Given the description of an element on the screen output the (x, y) to click on. 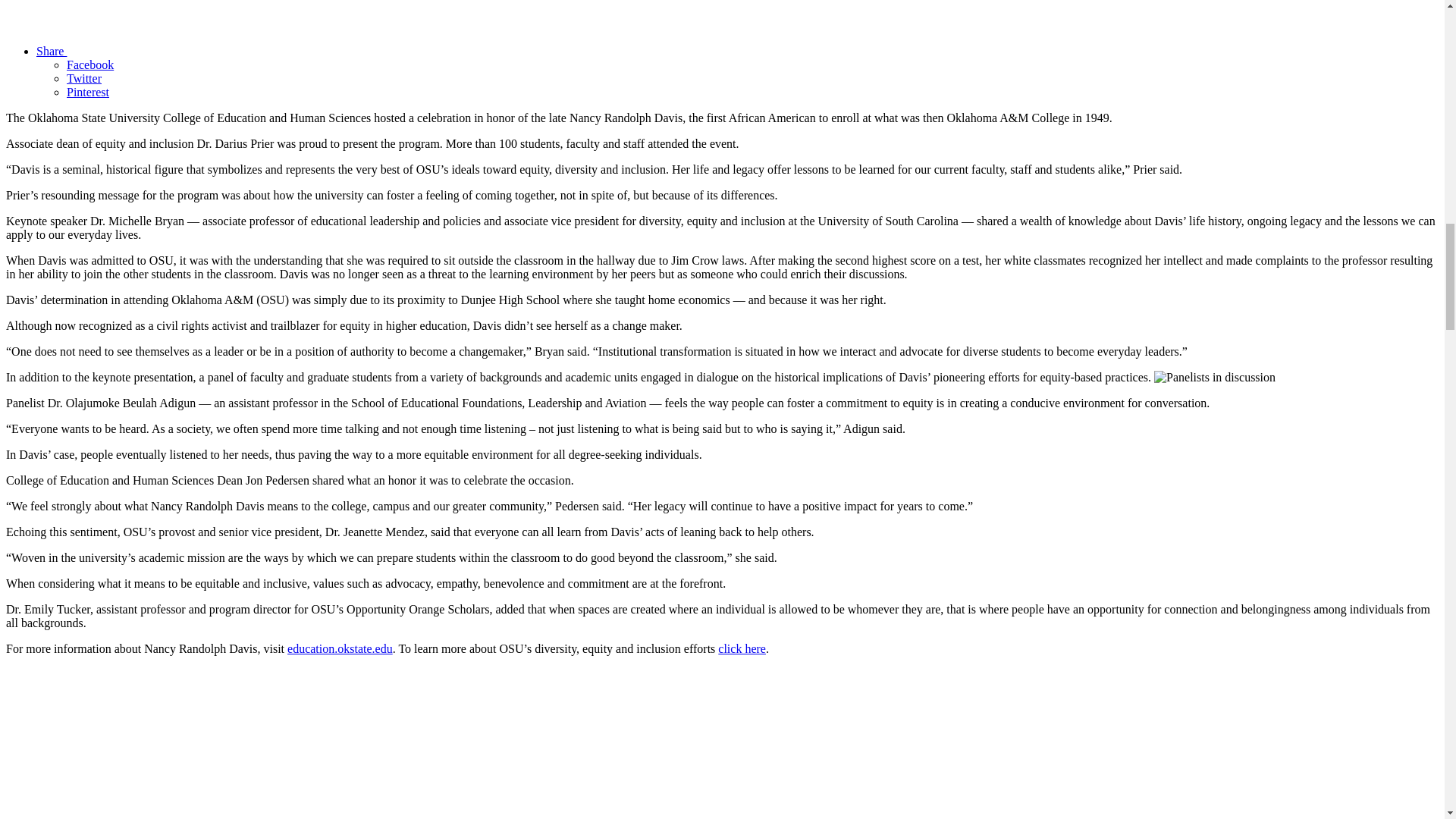
Share (165, 51)
click here (741, 648)
Pinterest (87, 91)
Twitter (83, 78)
Facebook (89, 64)
education.okstate.edu (339, 648)
